Given the description of an element on the screen output the (x, y) to click on. 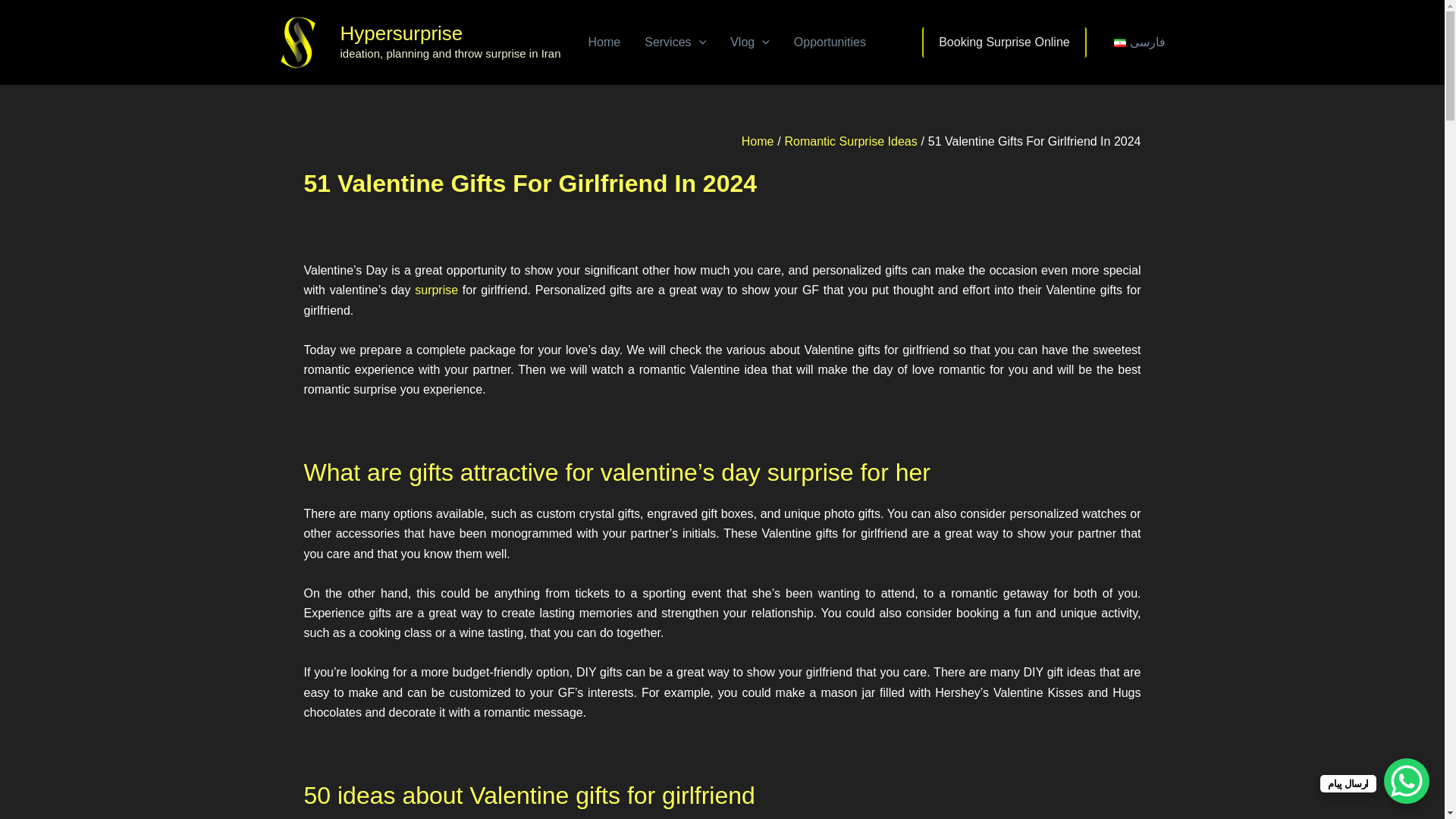
Booking Surprise Online (1003, 42)
Vlog (749, 42)
Opportunities (829, 42)
Hypersurprise (401, 33)
Home (604, 42)
Services (674, 42)
